Given the description of an element on the screen output the (x, y) to click on. 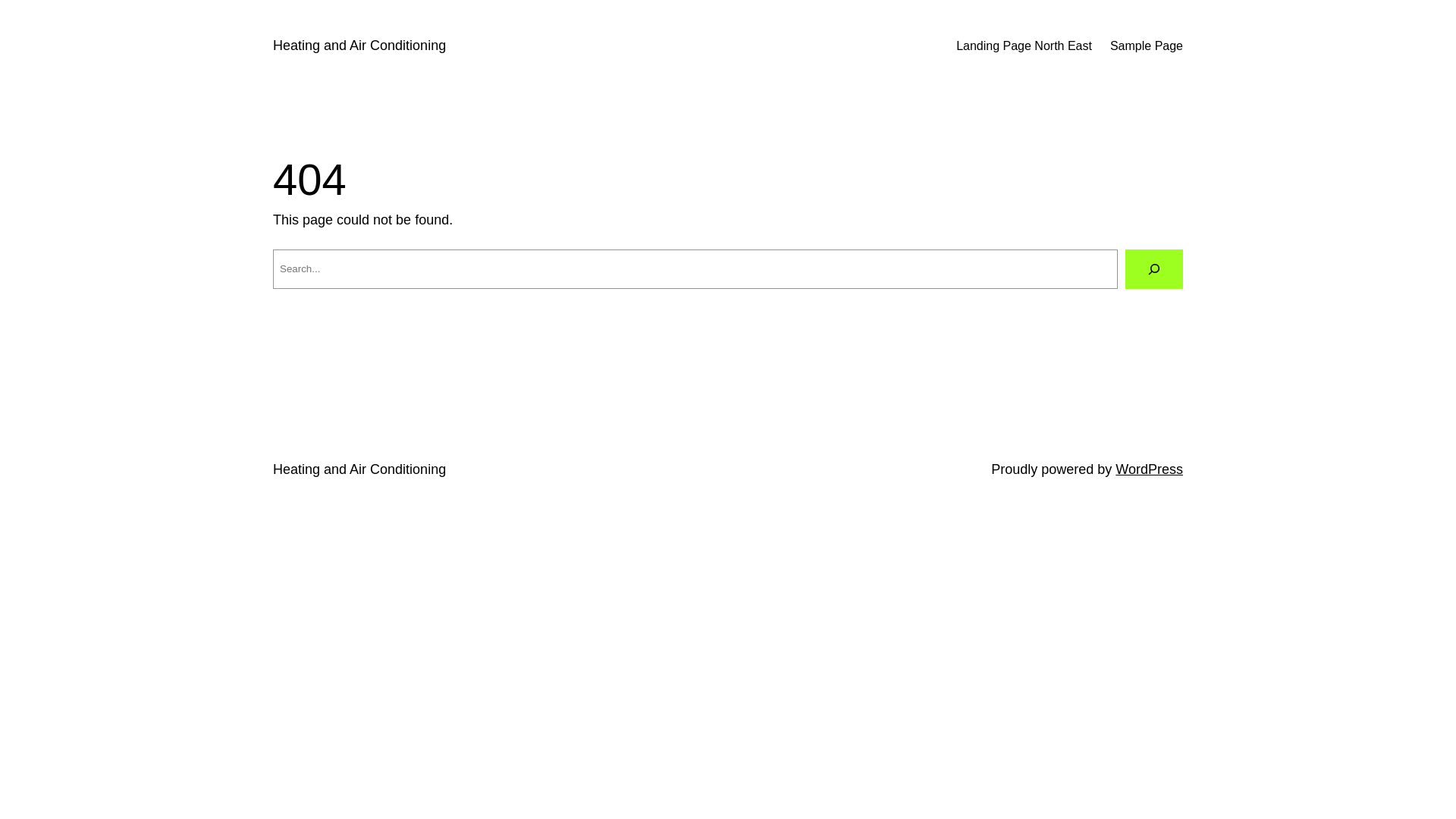
WordPress Element type: text (1149, 468)
Sample Page Element type: text (1146, 46)
Landing Page North East Element type: text (1024, 46)
Heating and Air Conditioning Element type: text (359, 468)
Heating and Air Conditioning Element type: text (359, 45)
